Given the description of an element on the screen output the (x, y) to click on. 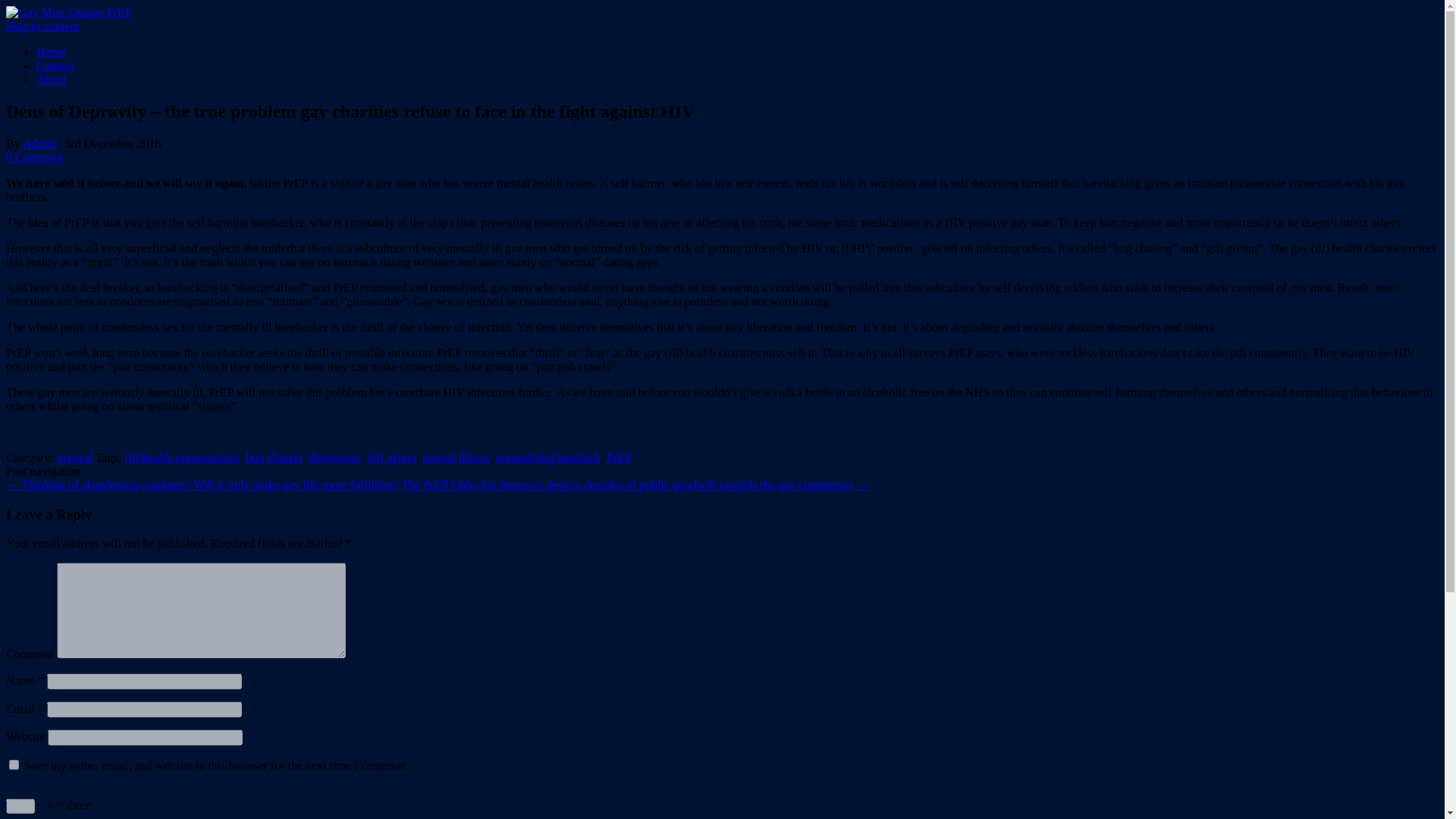
general (74, 457)
Home (50, 51)
normalising bareback (547, 457)
Contact (55, 65)
PrEP (619, 457)
Admin (39, 143)
depression (334, 457)
0 Comment (33, 156)
About (51, 78)
Gay Men Against PrEP (68, 11)
gift givers (391, 457)
bug chasers (274, 457)
Skip to content (42, 25)
Skip to content (42, 25)
yes (13, 764)
